Given the description of an element on the screen output the (x, y) to click on. 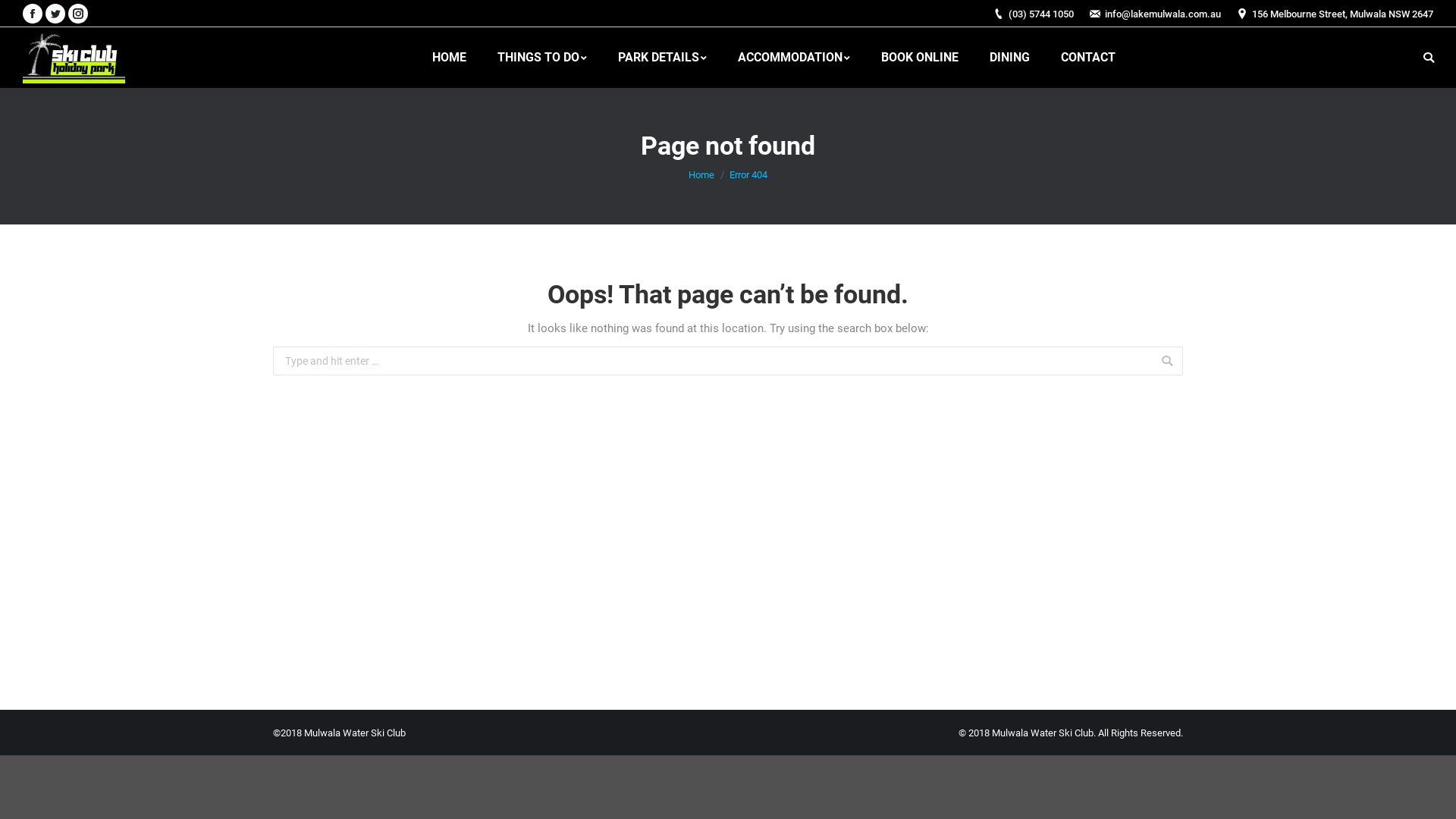
Twitter Element type: text (55, 13)
Go! Element type: text (1204, 360)
(03) 5744 1050 Element type: text (1040, 13)
HOME Element type: text (449, 57)
156 Melbourne Street, Mulwala NSW 2647 Element type: text (1342, 13)
Home Element type: text (701, 174)
Instagram Element type: text (77, 13)
PARK DETAILS Element type: text (661, 57)
Go! Element type: text (21, 14)
CONTACT Element type: text (1087, 57)
DINING Element type: text (1009, 57)
Facebook Element type: text (32, 13)
info@lakemulwala.com.au Element type: text (1162, 13)
BOOK ONLINE Element type: text (919, 57)
THINGS TO DO Element type: text (542, 57)
ACCOMMODATION Element type: text (793, 57)
